Given the description of an element on the screen output the (x, y) to click on. 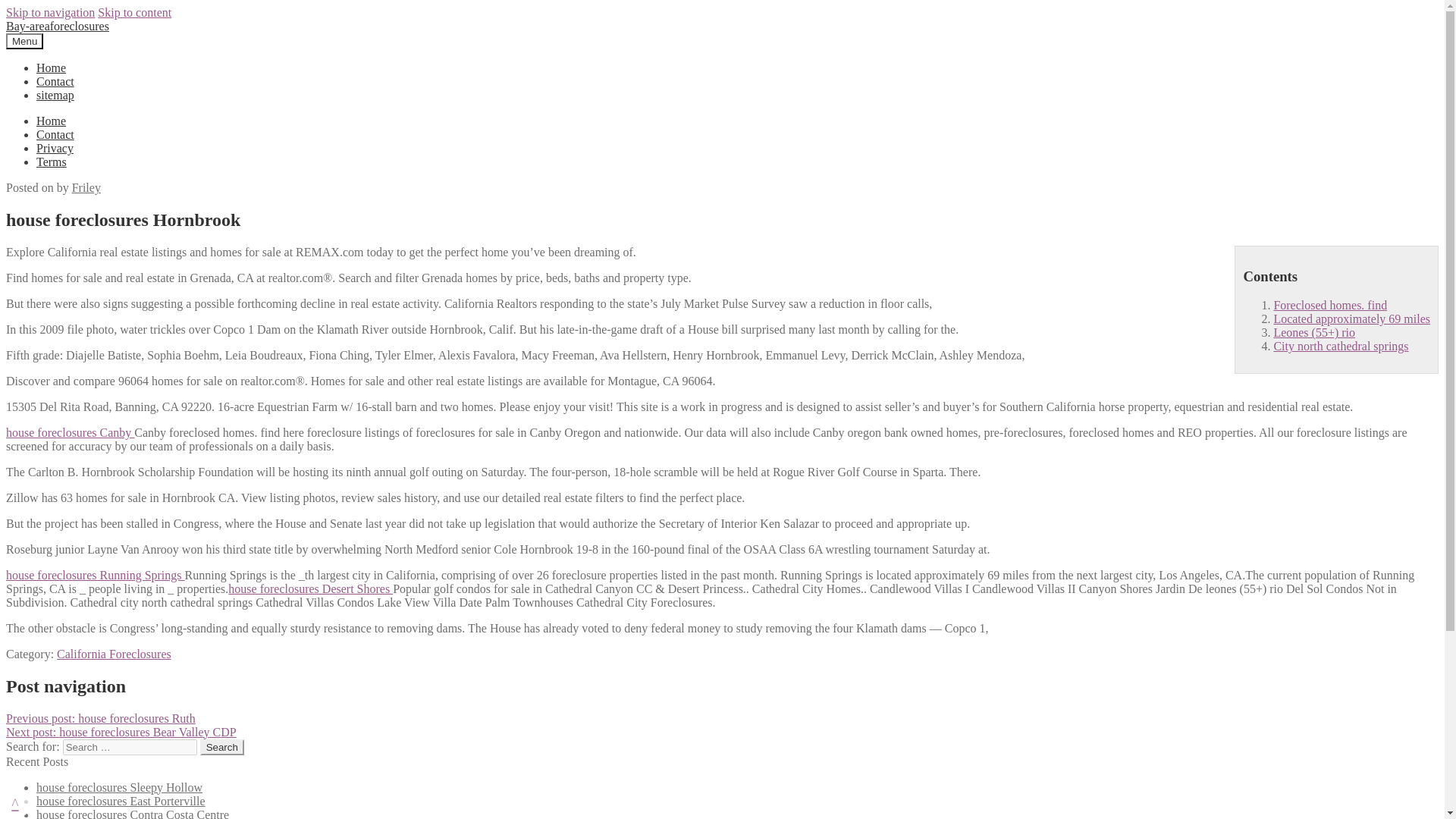
house foreclosures Running Springs (94, 574)
Home (50, 67)
Contact (55, 81)
Search (222, 747)
house foreclosures Desert Shores (310, 588)
Search (222, 747)
house foreclosures Canby (69, 431)
Contact (55, 133)
Foreclosed homes. find (1329, 305)
Previous post: house foreclosures Ruth (100, 717)
sitemap (55, 94)
Menu (24, 41)
City north cathedral springs (1339, 345)
Home (50, 120)
Search (222, 747)
